Given the description of an element on the screen output the (x, y) to click on. 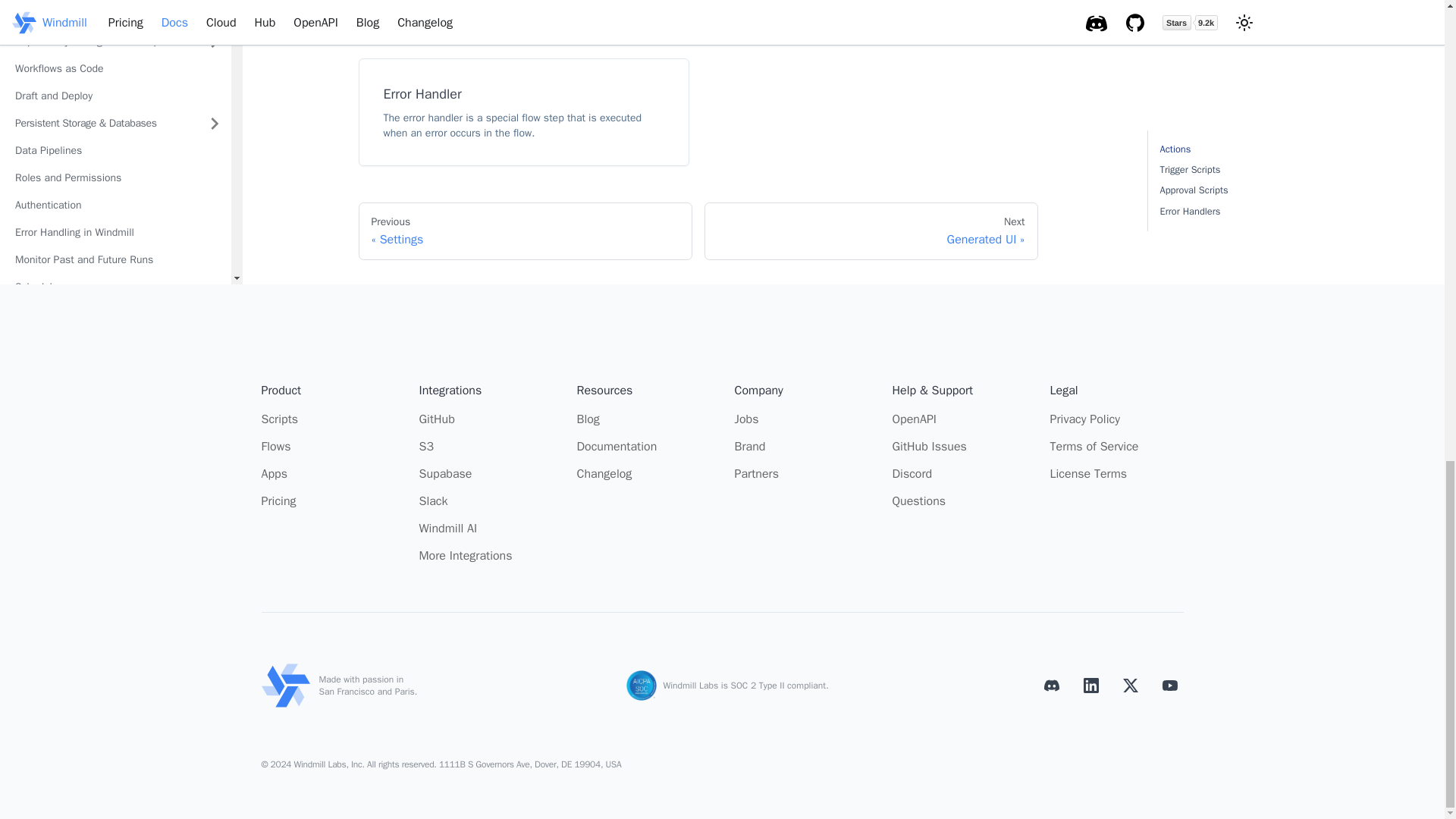
Follow us on X! (1129, 685)
Join our Discord community! (1050, 685)
Follow us on LinkedIn! (1090, 685)
Subscribe to our YouTube channel! (1169, 685)
